Given the description of an element on the screen output the (x, y) to click on. 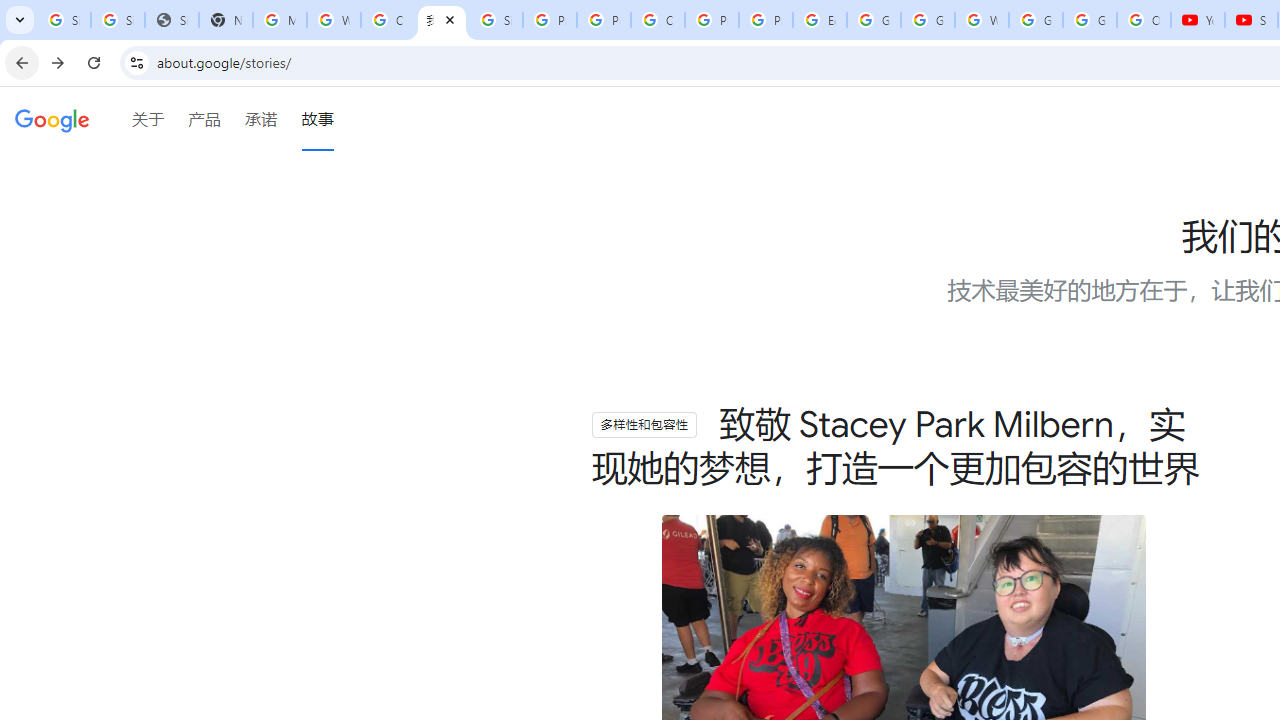
Edit and view right-to-left text - Google Docs Editors Help (819, 20)
New Tab (225, 20)
Google Account (1089, 20)
Create your Google Account (387, 20)
Create your Google Account (657, 20)
Google Slides: Sign-in (874, 20)
Sign in - Google Accounts (495, 20)
